Given the description of an element on the screen output the (x, y) to click on. 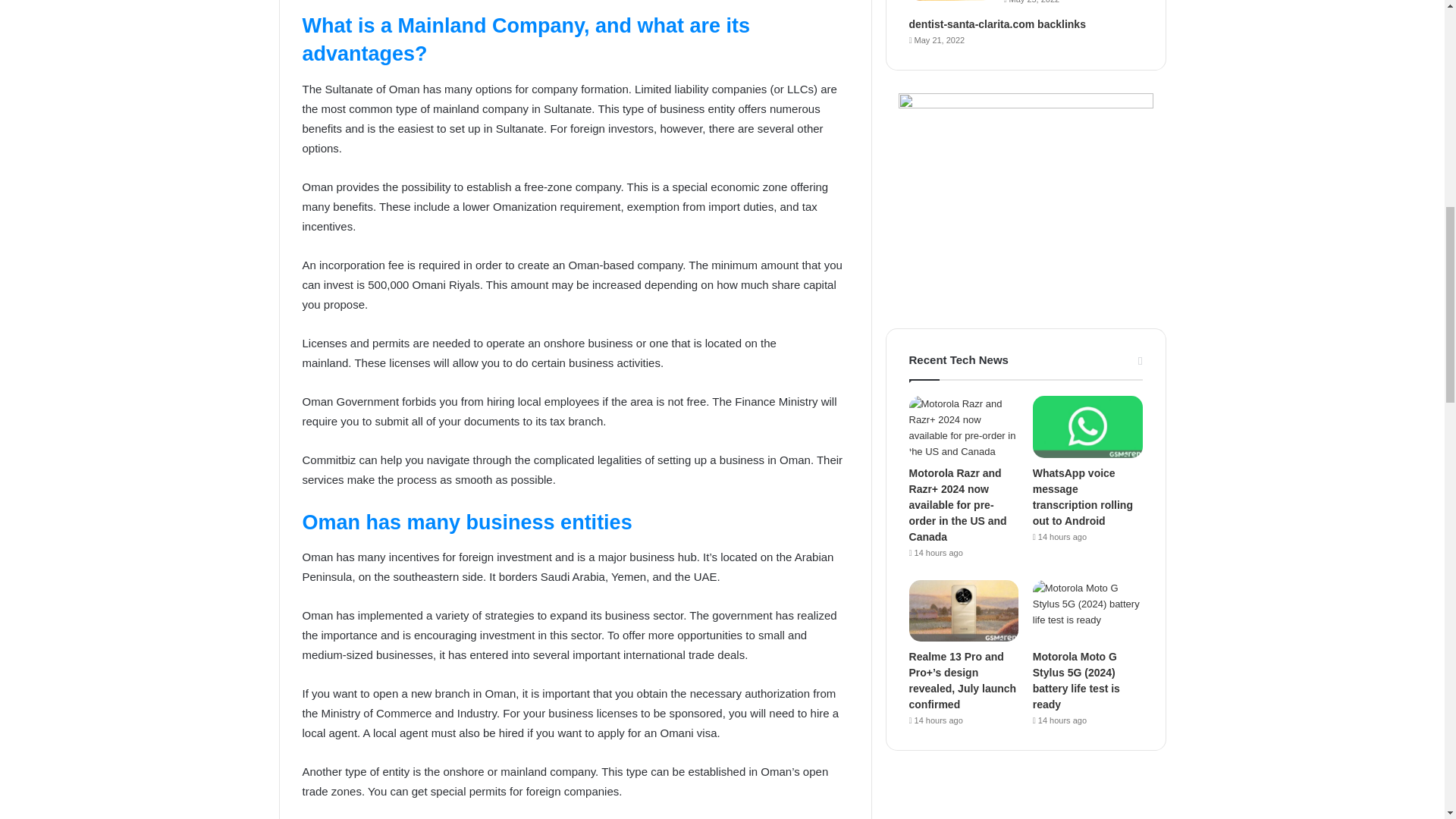
Oman has many business entities (466, 522)
What is a Mainland Company, and what are its advantages? (525, 40)
dentist-santa-clarita.com backlinks (997, 24)
